Given the description of an element on the screen output the (x, y) to click on. 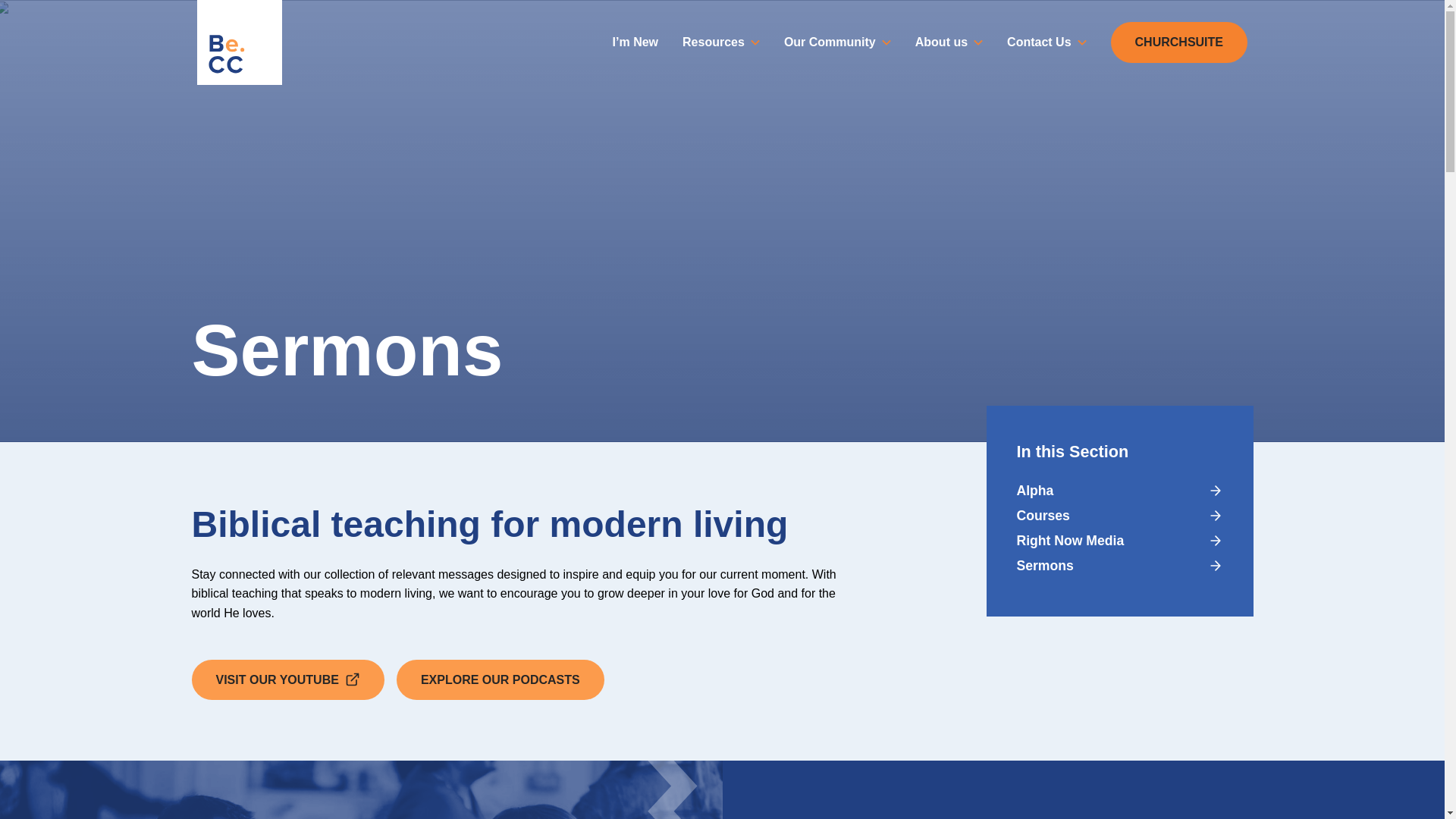
Our Community (836, 42)
Resources (720, 42)
Contact Us (1045, 42)
CHURCHSUITE (1178, 42)
About us (948, 42)
